Given the description of an element on the screen output the (x, y) to click on. 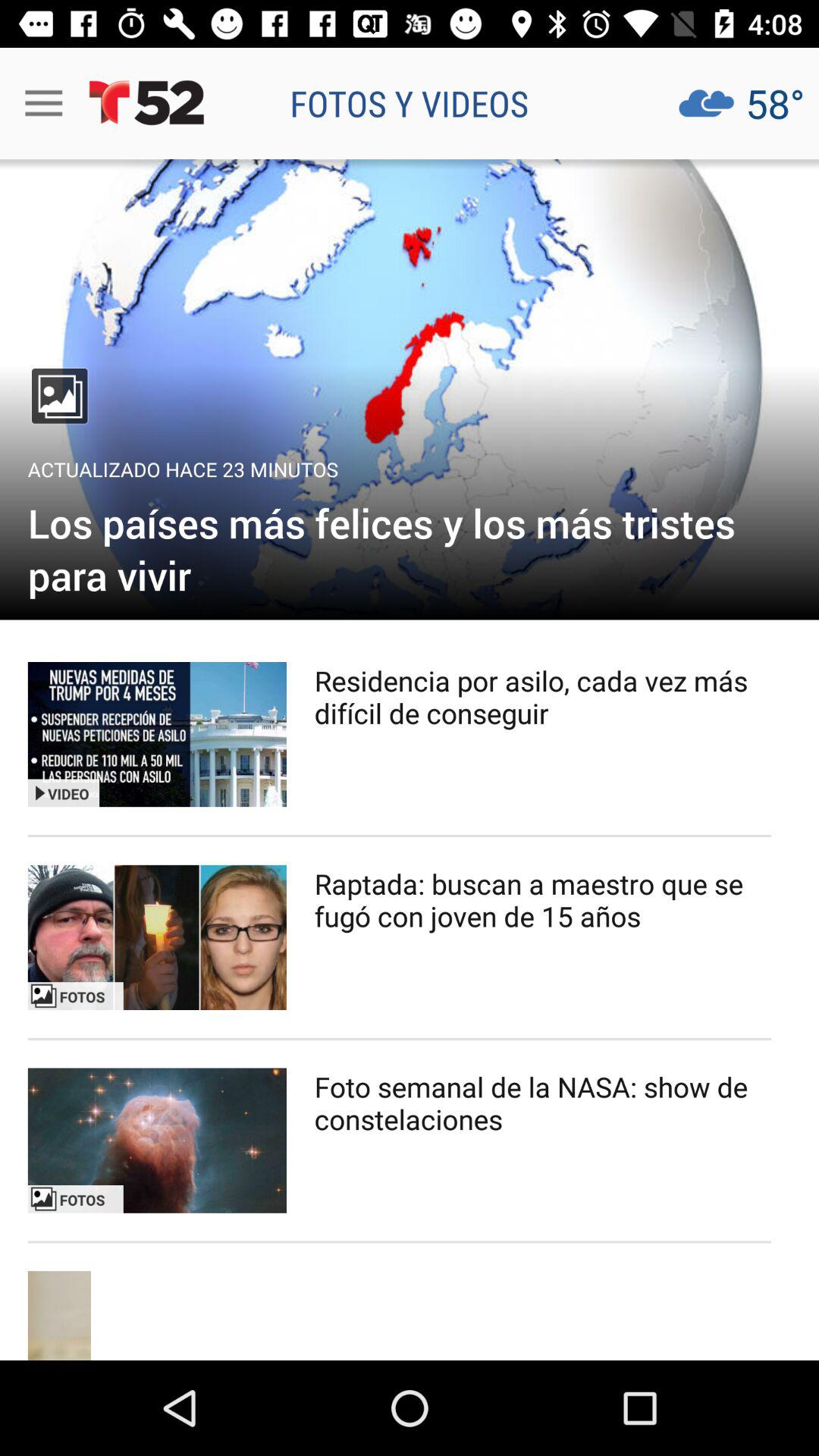
scroll to fotos y videos item (409, 103)
